Given the description of an element on the screen output the (x, y) to click on. 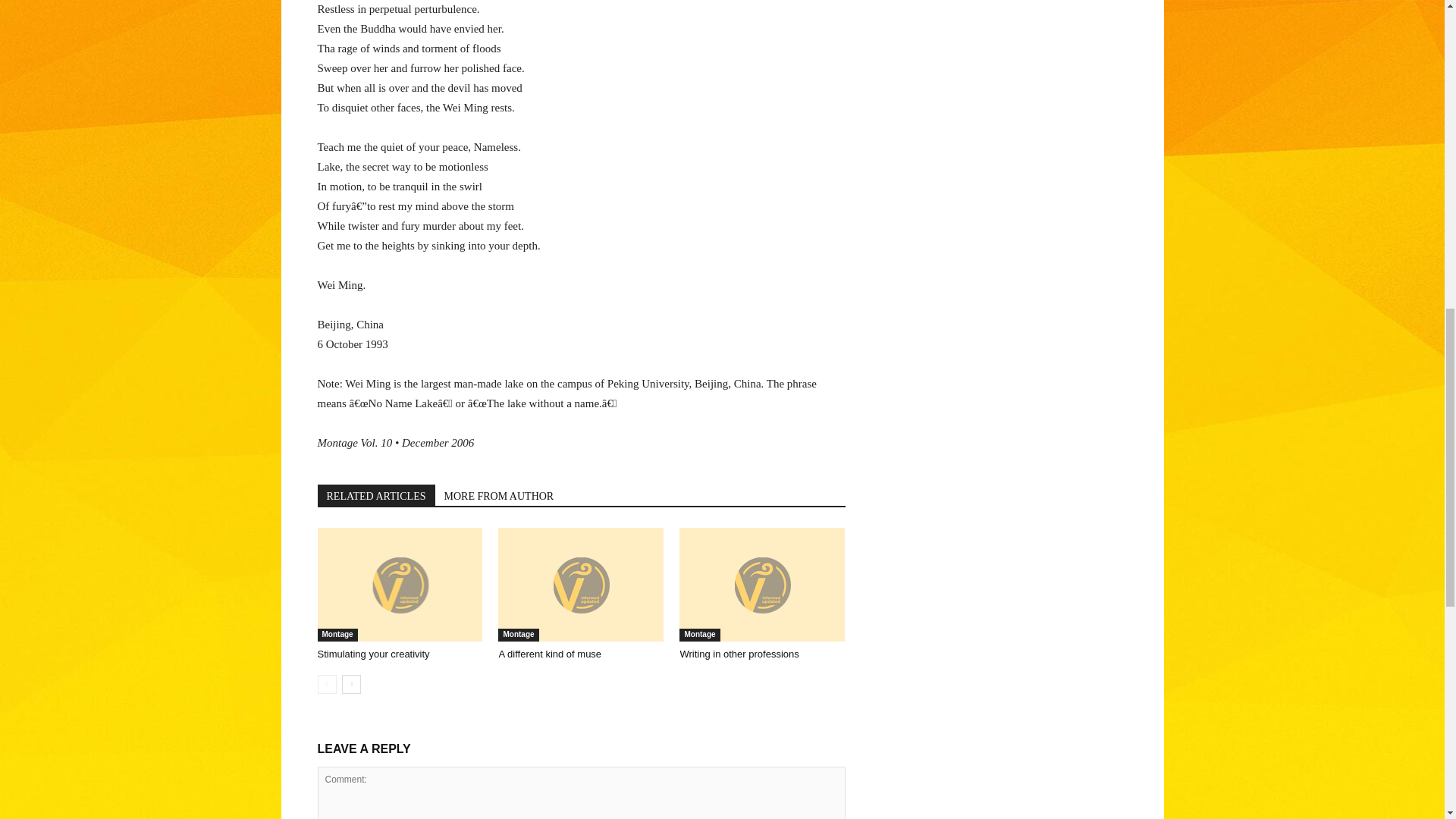
Writing in other professions (761, 584)
Writing in other professions (738, 654)
Stimulating your creativity (373, 654)
A different kind of muse (549, 654)
Stimulating your creativity (399, 584)
A different kind of muse (580, 584)
